Given the description of an element on the screen output the (x, y) to click on. 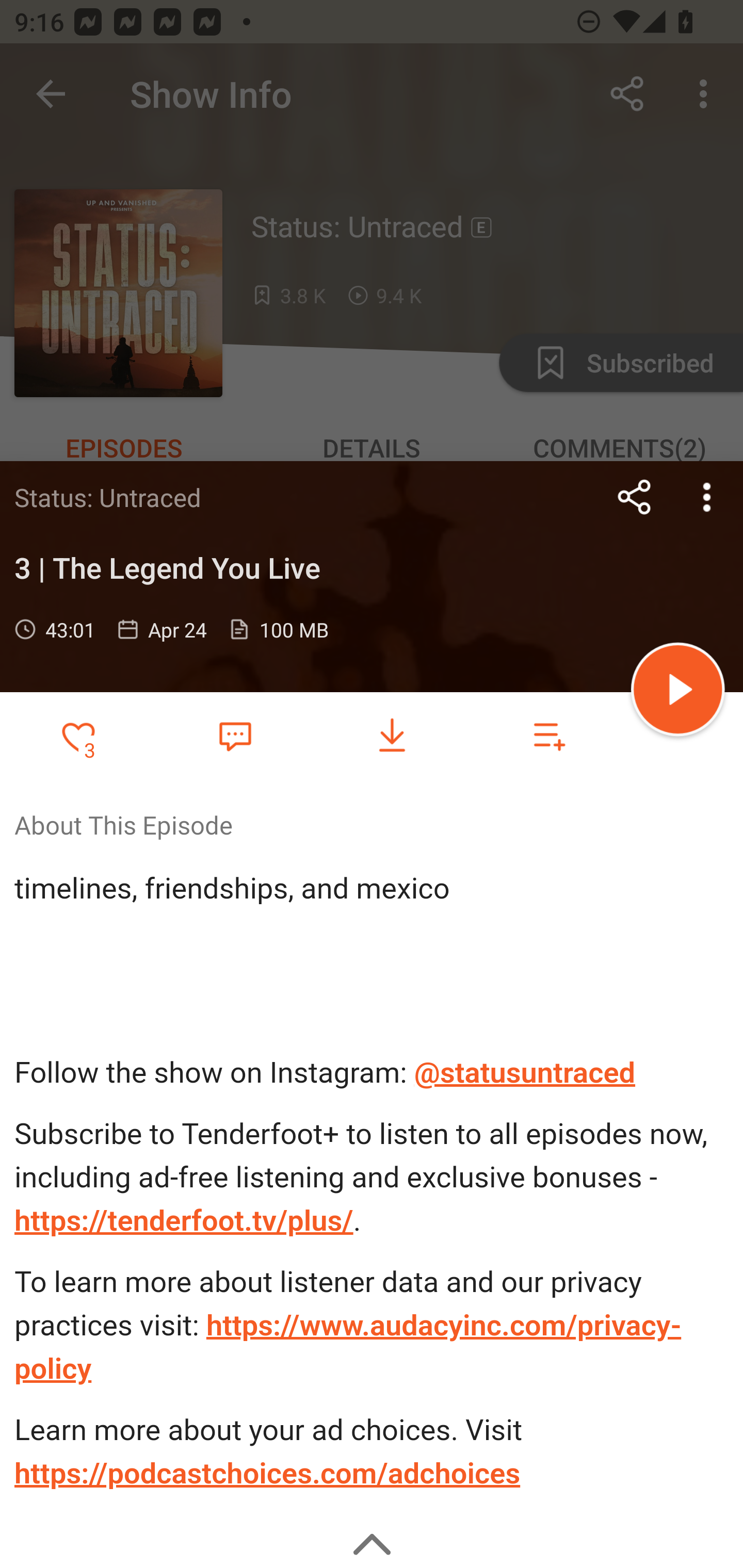
Share (634, 496)
more options (706, 496)
Play (677, 692)
Favorite (234, 735)
Add to Favorites (78, 735)
Download (391, 735)
Add to playlist (548, 735)
@statusuntraced (525, 1073)
https://tenderfoot.tv/plus/ (183, 1220)
https://www.audacyinc.com/privacy-policy (348, 1347)
https://podcastchoices.com/adchoices (267, 1473)
